Given the description of an element on the screen output the (x, y) to click on. 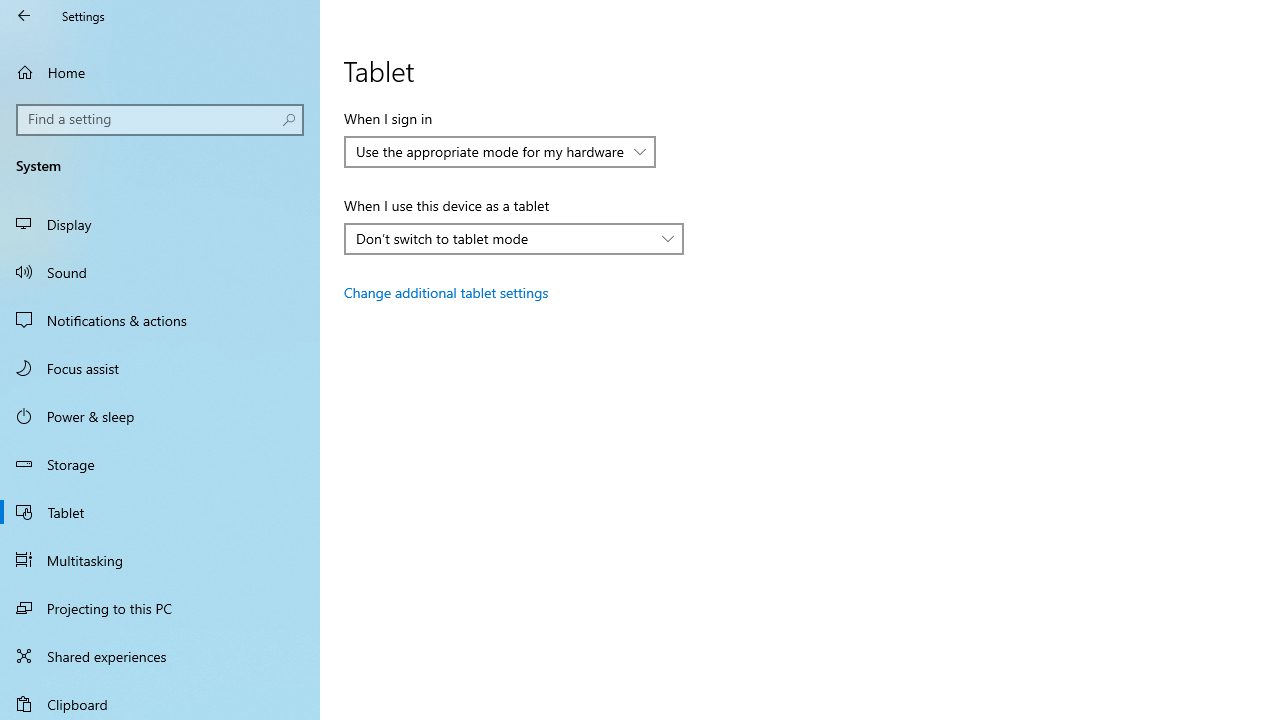
Sound (160, 271)
Home (160, 71)
Shared experiences (160, 655)
